Given the description of an element on the screen output the (x, y) to click on. 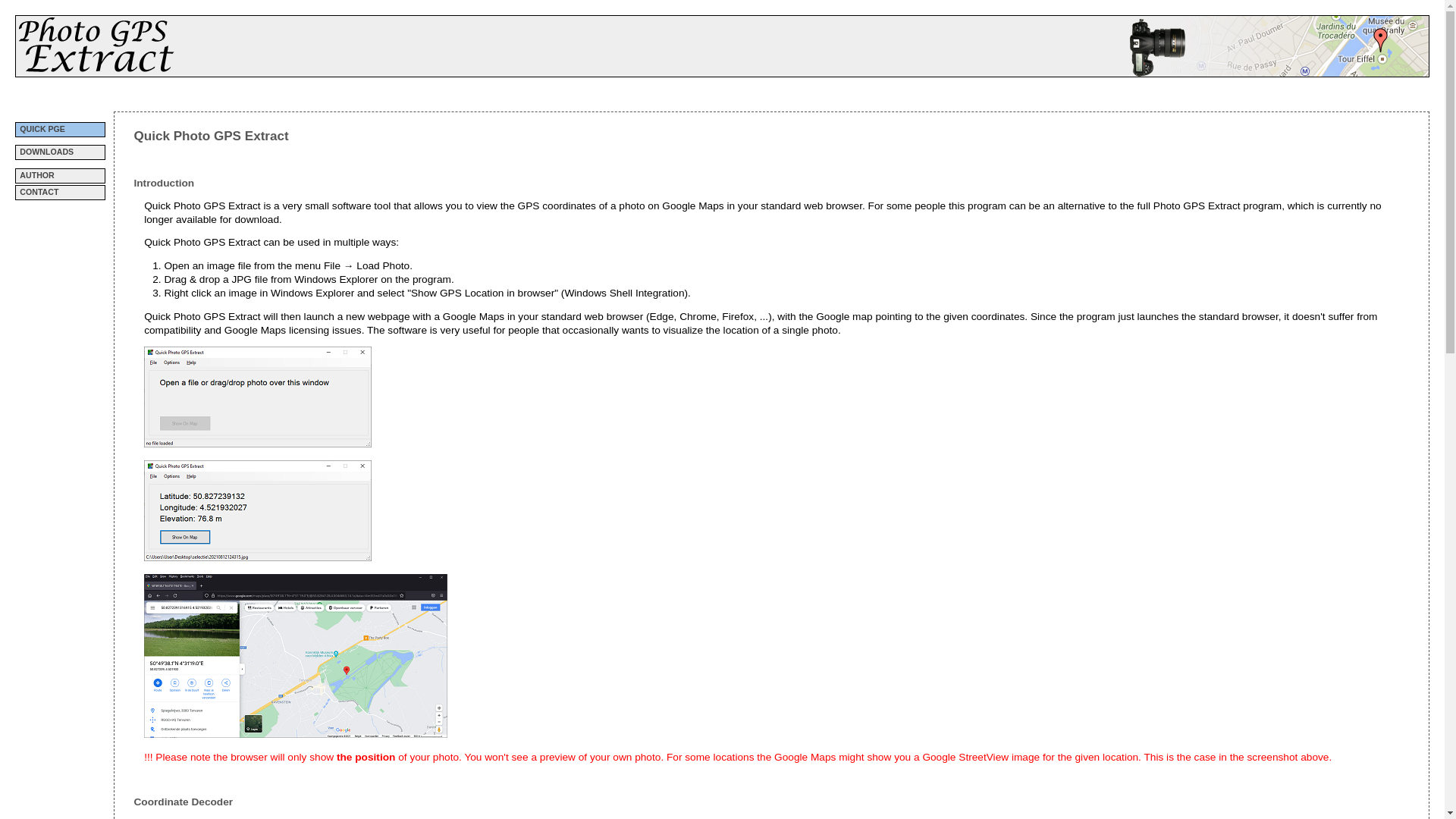
CONTACT Element type: text (60, 192)
QUICK PGE Element type: text (60, 129)
AUTHOR Element type: text (60, 175)
DOWNLOADS Element type: text (60, 152)
